Given the description of an element on the screen output the (x, y) to click on. 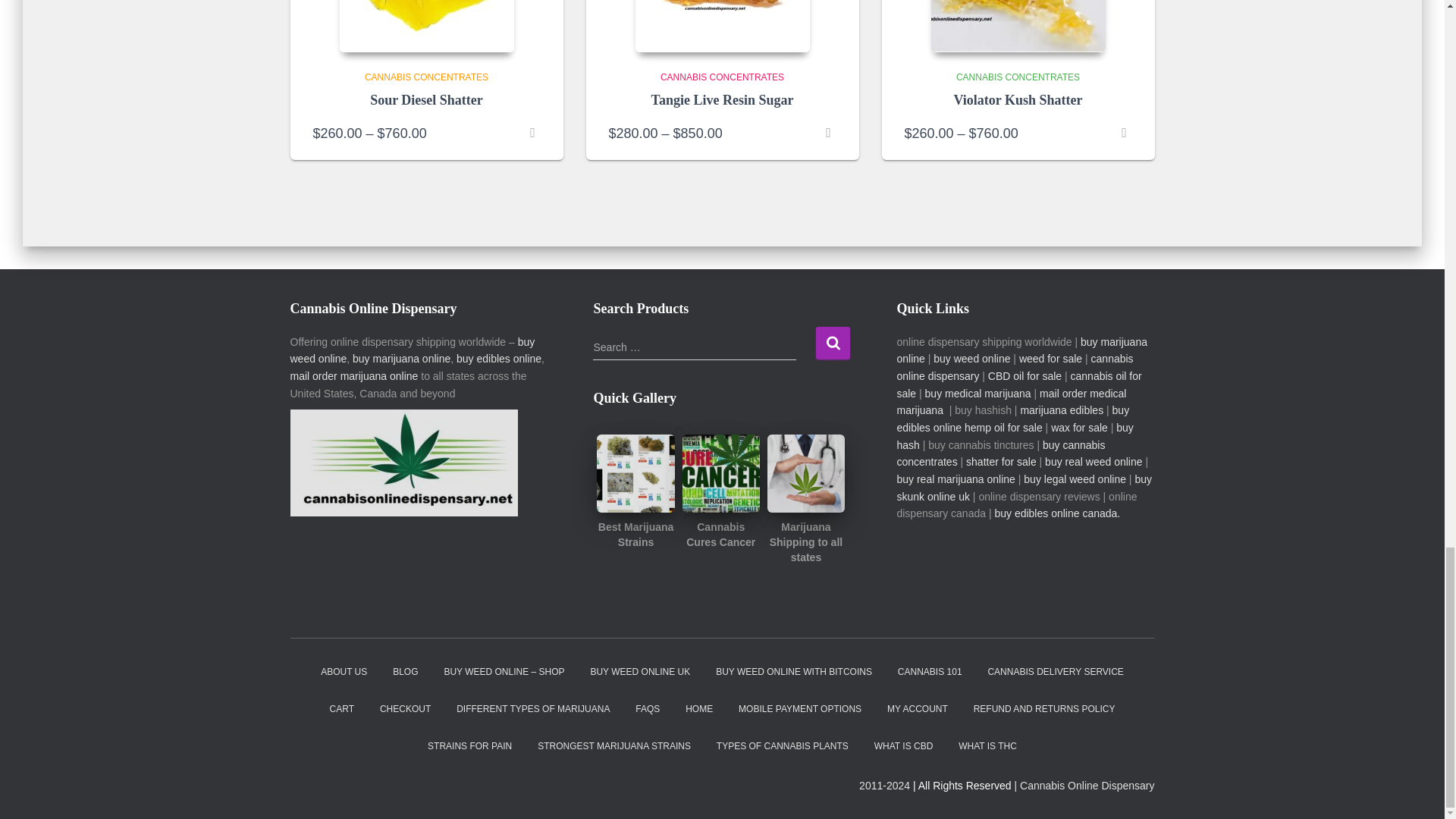
Search (832, 342)
Search (832, 342)
